Given the description of an element on the screen output the (x, y) to click on. 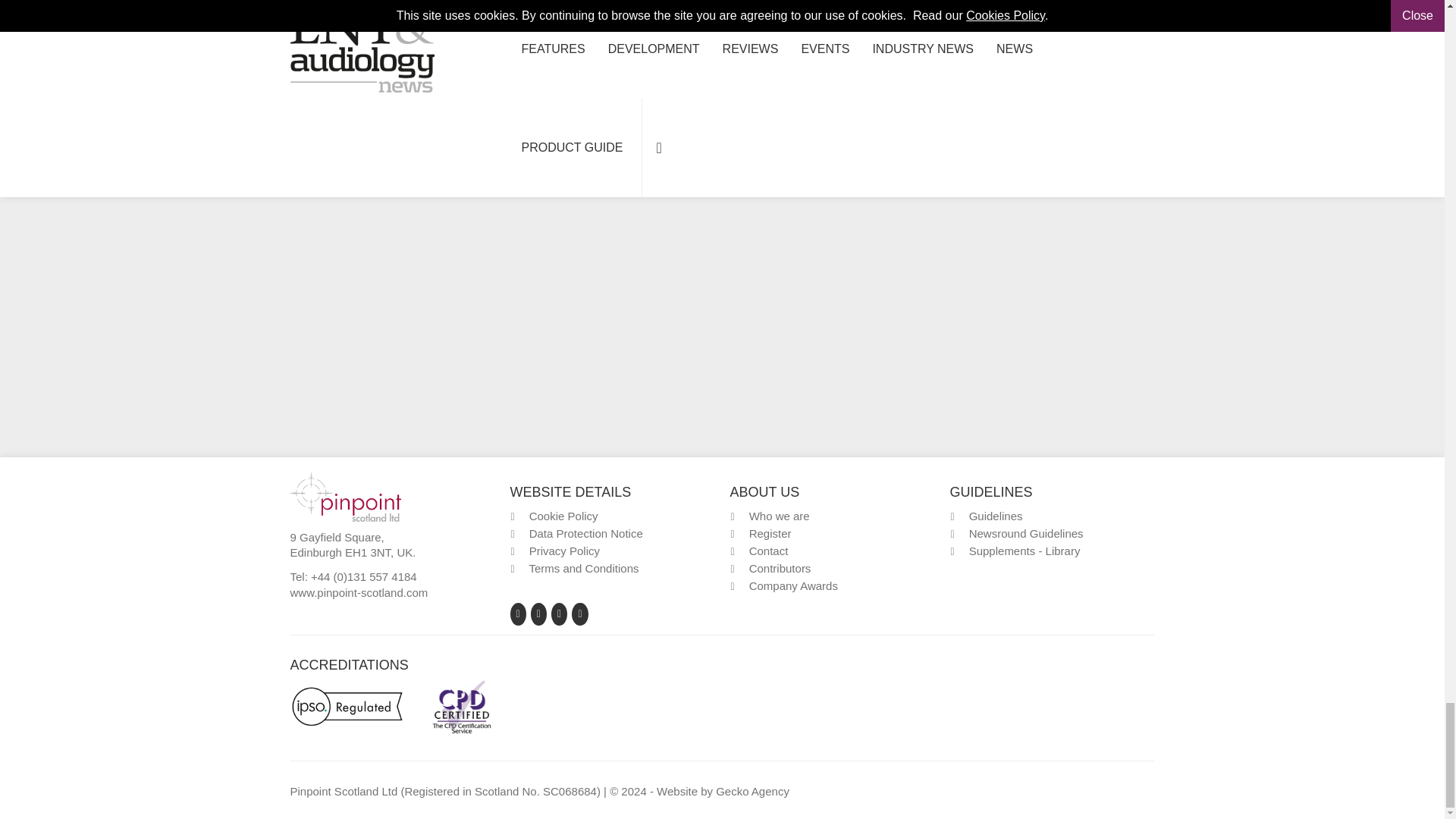
Website by Gecko Agency (752, 790)
